Given the description of an element on the screen output the (x, y) to click on. 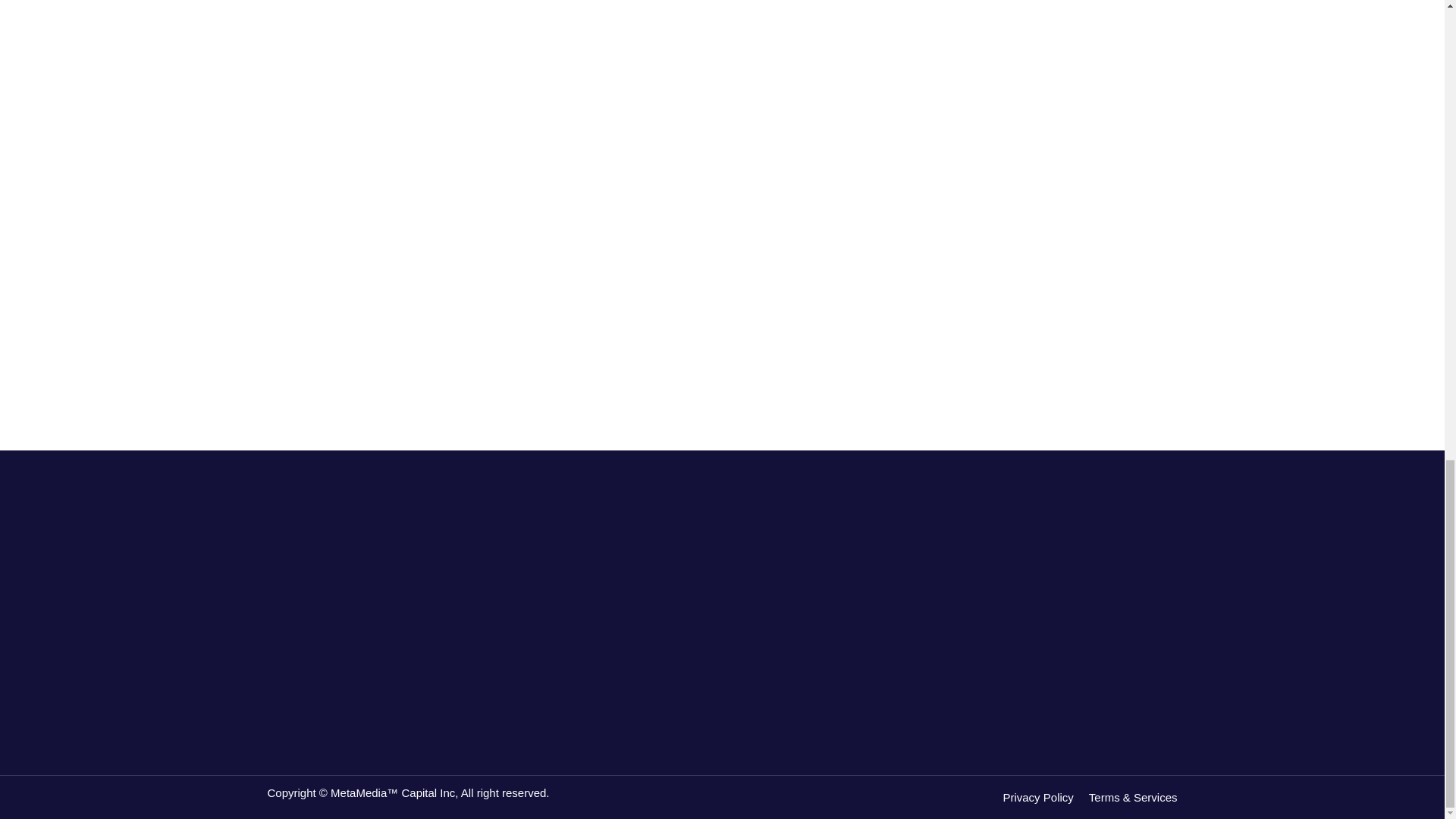
Privacy Policy (1045, 797)
